Given the description of an element on the screen output the (x, y) to click on. 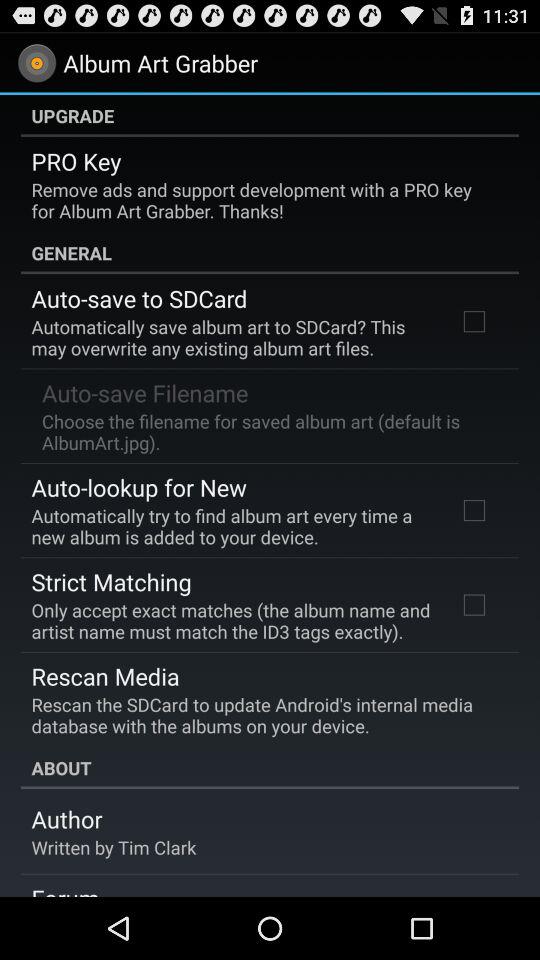
launch the upgrade (270, 115)
